Given the description of an element on the screen output the (x, y) to click on. 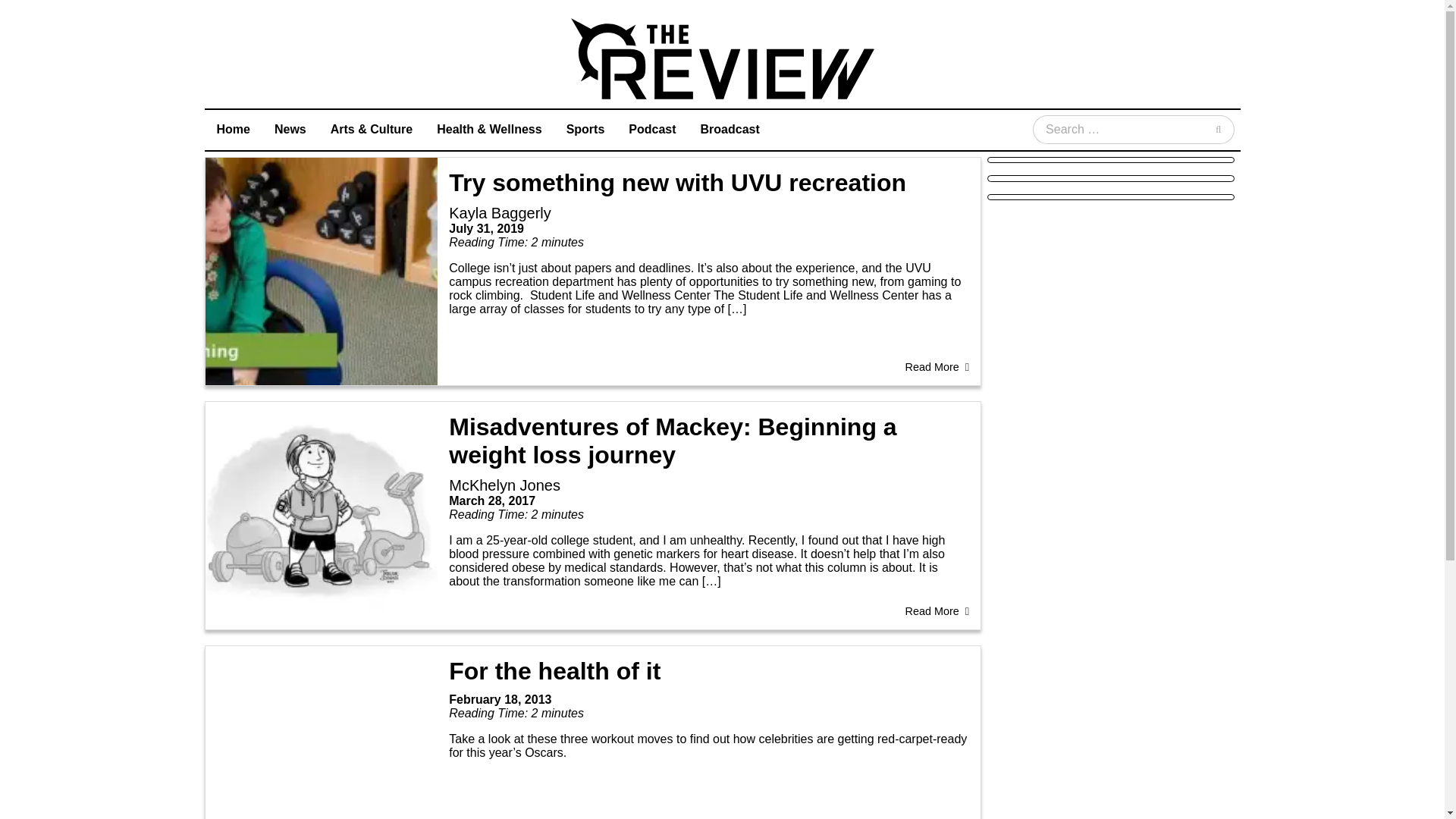
Try something new with UVU recreation (676, 182)
Posts by McKhelyn Jones (504, 484)
McKhelyn Jones (504, 484)
Misadventures of Mackey: Beginning a weight loss journey (672, 440)
Search (1218, 129)
Home (233, 128)
Kayla Baggerly (499, 212)
Read More (937, 611)
Read More (937, 367)
For the health of it (554, 670)
News (290, 128)
Search for: (1118, 129)
Podcast (651, 128)
Sports (585, 128)
Broadcast (730, 128)
